Given the description of an element on the screen output the (x, y) to click on. 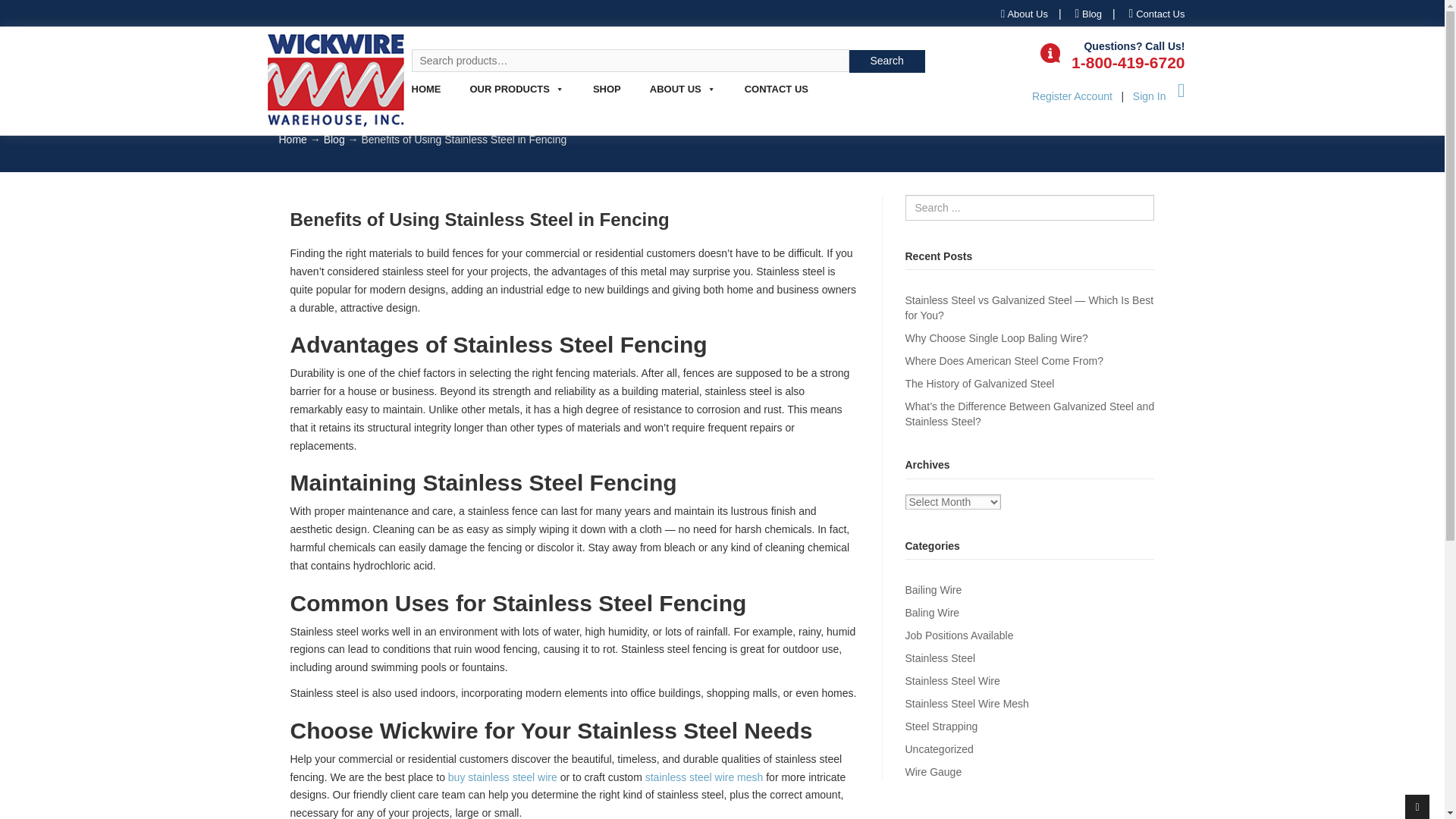
Stainless Steel (940, 657)
Why Choose Single Loop Baling Wire? (996, 337)
Blog (334, 139)
About Us (1024, 13)
Benefits of Using Stainless Steel in Fencing (478, 219)
The History of Galvanized Steel (979, 383)
Sign In (1150, 96)
Contact Us (1157, 49)
CONTACT US (769, 95)
Blog (1088, 13)
Baling Wire (932, 612)
OUR PRODUCTS (516, 95)
Where Does American Steel Come From? (1004, 360)
Search (886, 60)
buy stainless steel wire (502, 776)
